Given the description of an element on the screen output the (x, y) to click on. 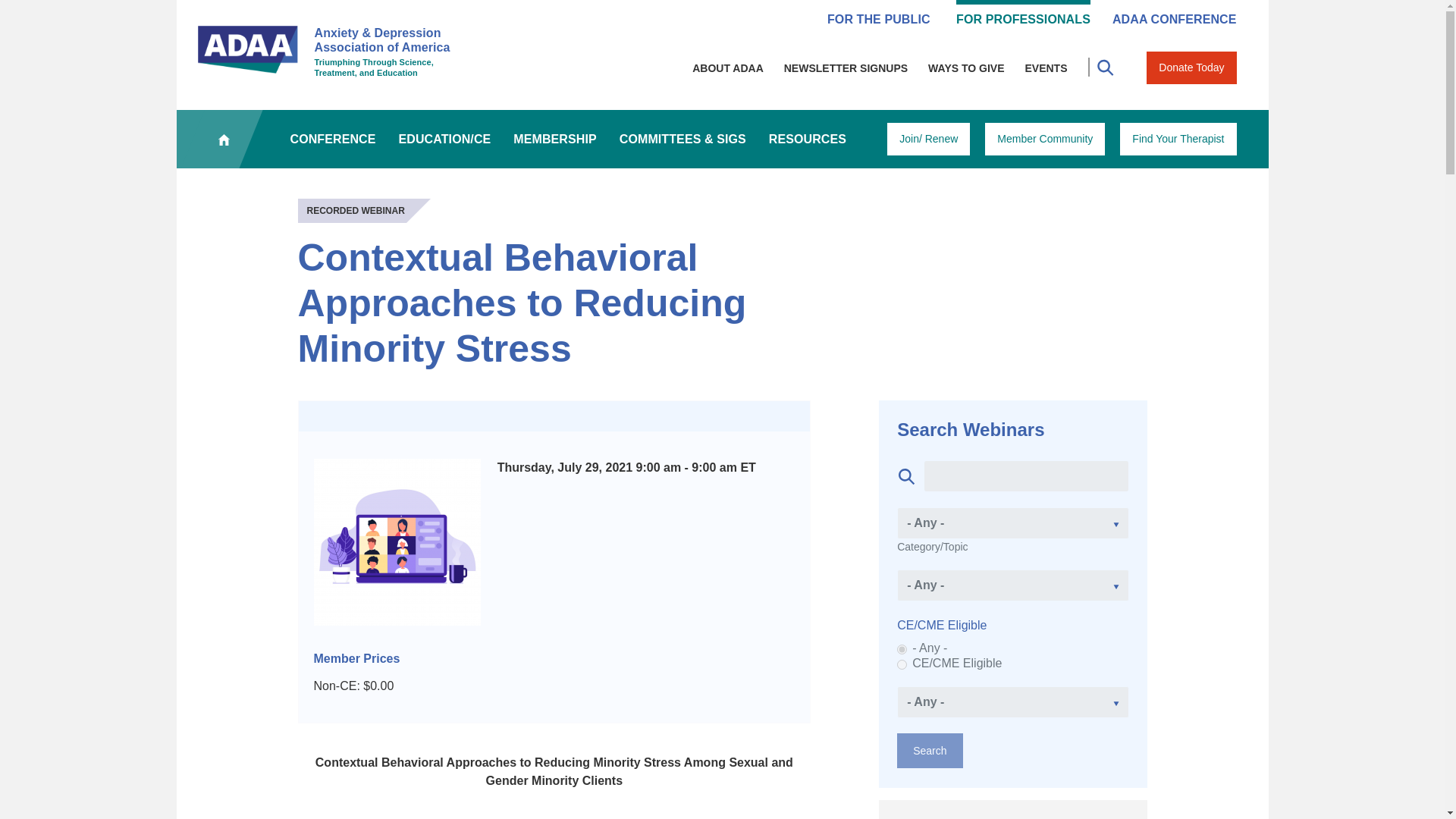
FOR THE PUBLIC (878, 14)
Search keywords (1025, 476)
YouTube video player (509, 813)
ABOUT ADAA (727, 68)
All (901, 649)
FOR PROFESSIONALS (1023, 14)
ADAA CONFERENCE (1174, 14)
Skip to main content (721, 1)
WAYS TO GIVE (966, 68)
1 (901, 664)
Donate Today (1191, 67)
EVENTS (1046, 68)
NEWSLETTER SIGNUPS (845, 68)
CONFERENCE (333, 138)
